Given the description of an element on the screen output the (x, y) to click on. 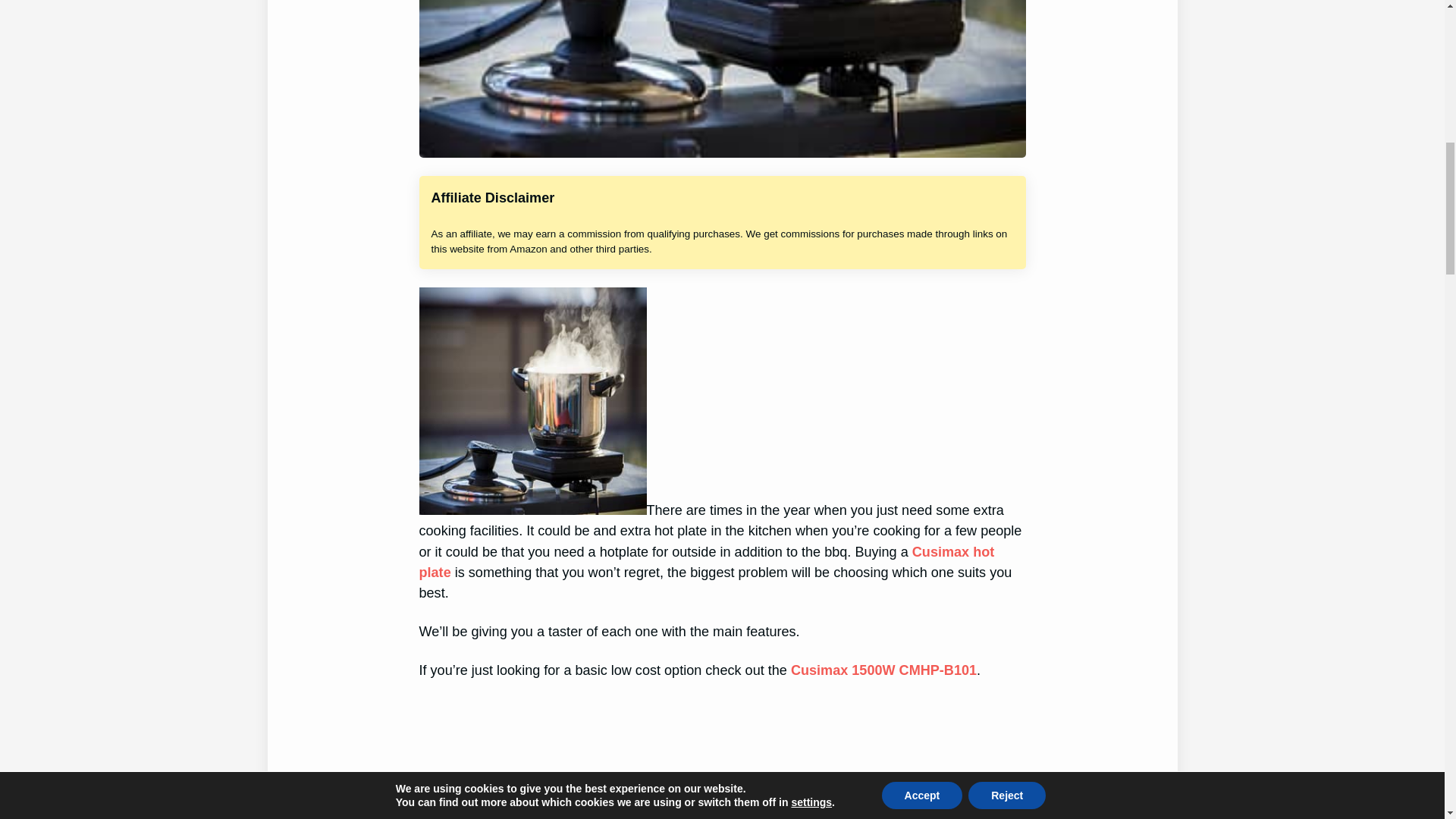
Cusimax 1500W CMHP-B101 (883, 670)
Cusimax hot plate (706, 561)
